Given the description of an element on the screen output the (x, y) to click on. 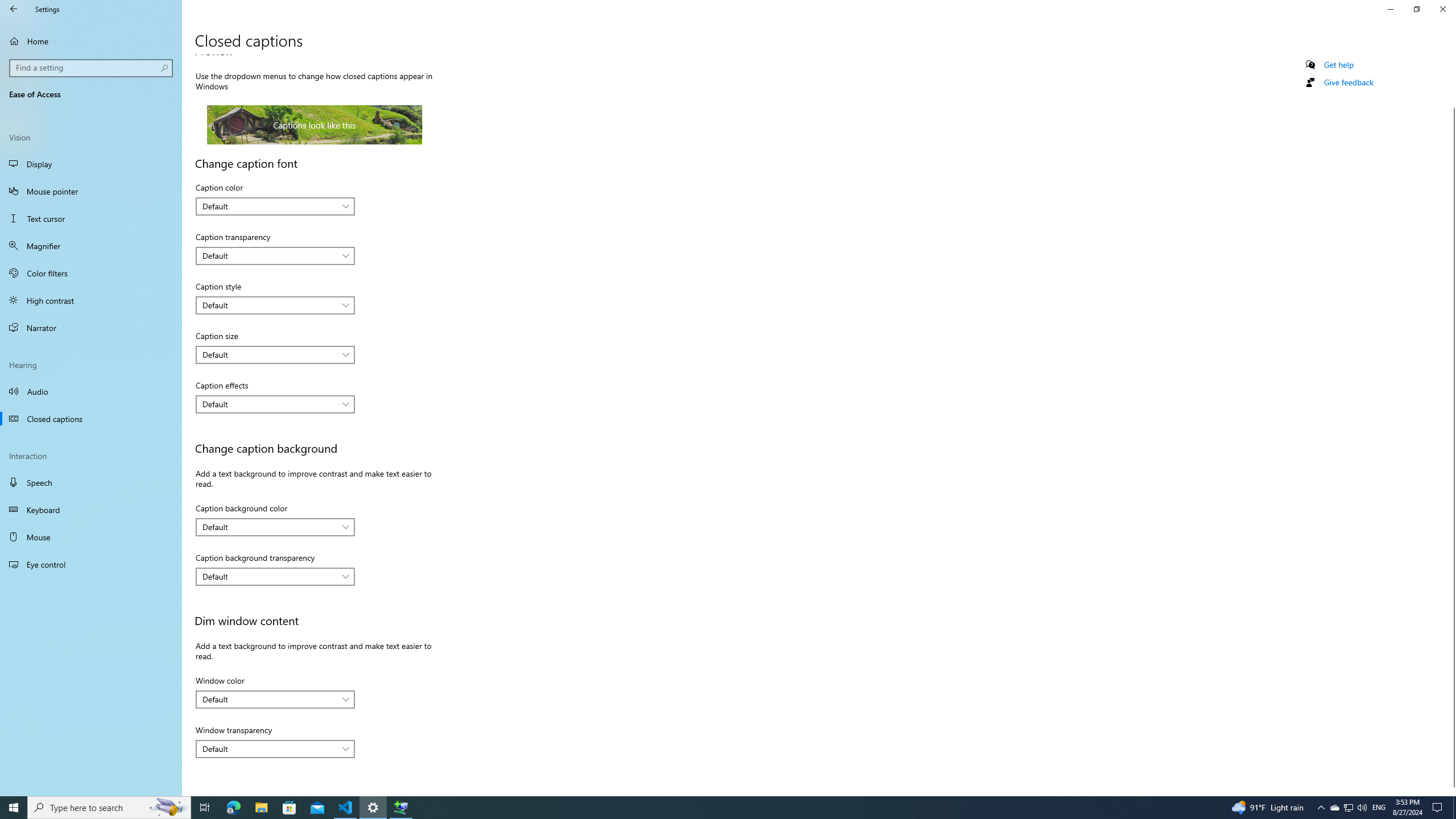
Caption size (275, 354)
Caption effects (275, 404)
Caption background color (275, 527)
Vertical Large Decrease (1451, 85)
Caption color (275, 206)
Vertical (1451, 425)
Caption transparency (275, 255)
Color filters (91, 272)
Text cursor (91, 217)
Running applications (706, 807)
Search box, Find a setting (91, 67)
